Given the description of an element on the screen output the (x, y) to click on. 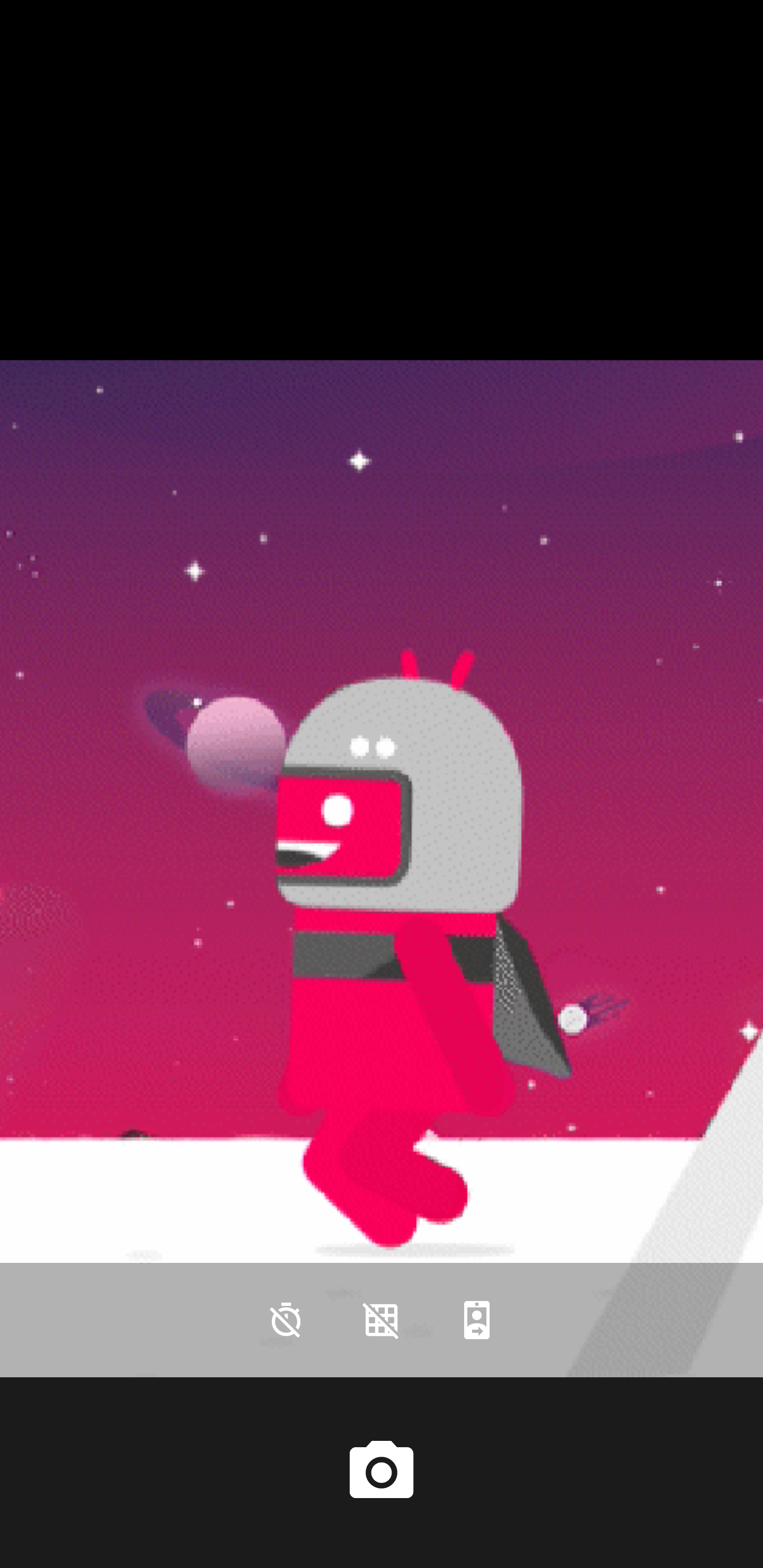
Countdown timer is off (285, 1319)
Grid lines off (381, 1319)
Front camera (476, 1319)
Shutter (381, 1472)
